Given the description of an element on the screen output the (x, y) to click on. 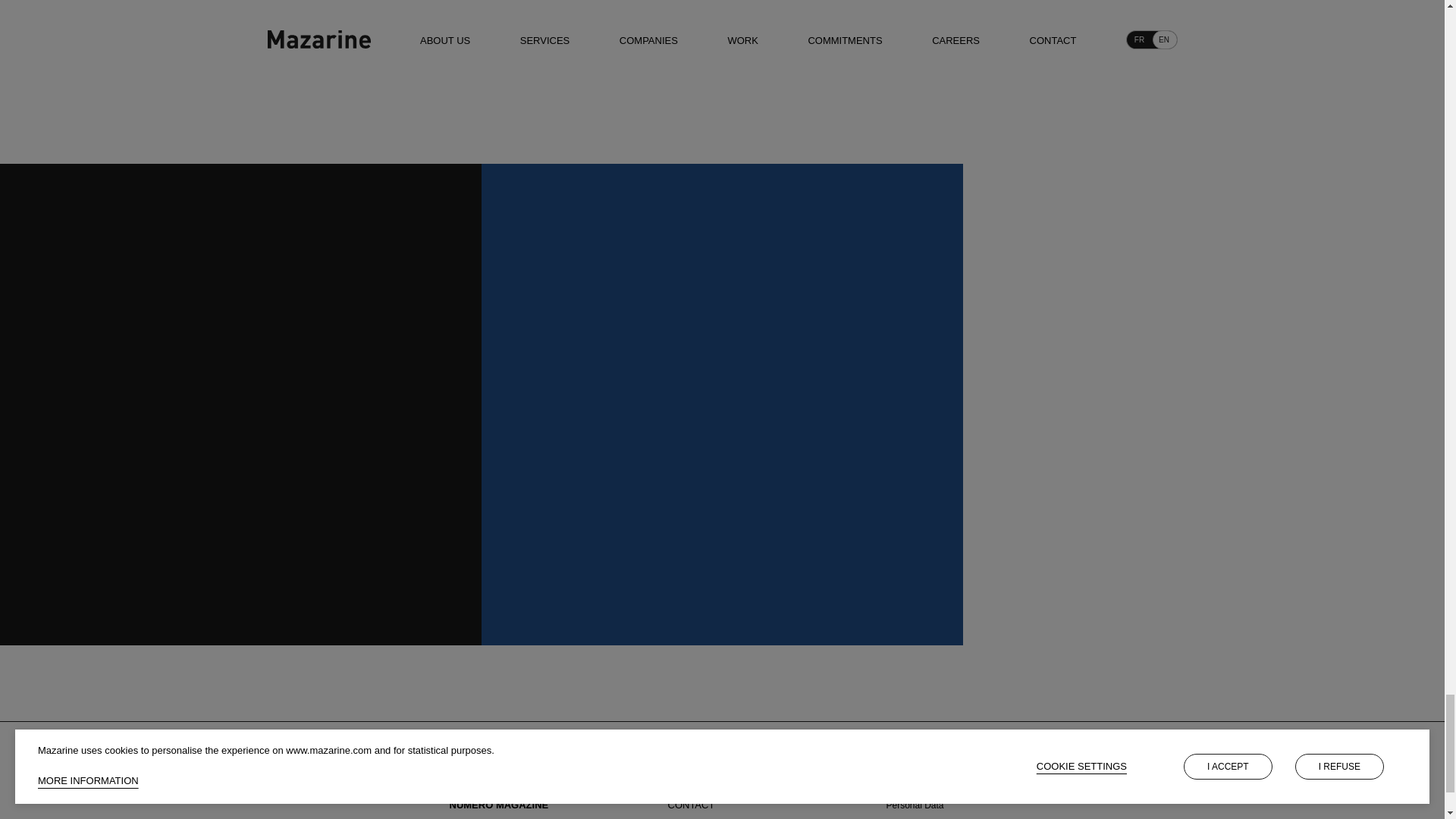
PRESS (683, 758)
Gender Equality Index (930, 759)
MAZARINE AGENCIES (501, 758)
Logo Mazarine (300, 789)
CONTACT (690, 804)
LA MODE EN IMAGES (499, 781)
CAREERS (690, 781)
